Given the description of an element on the screen output the (x, y) to click on. 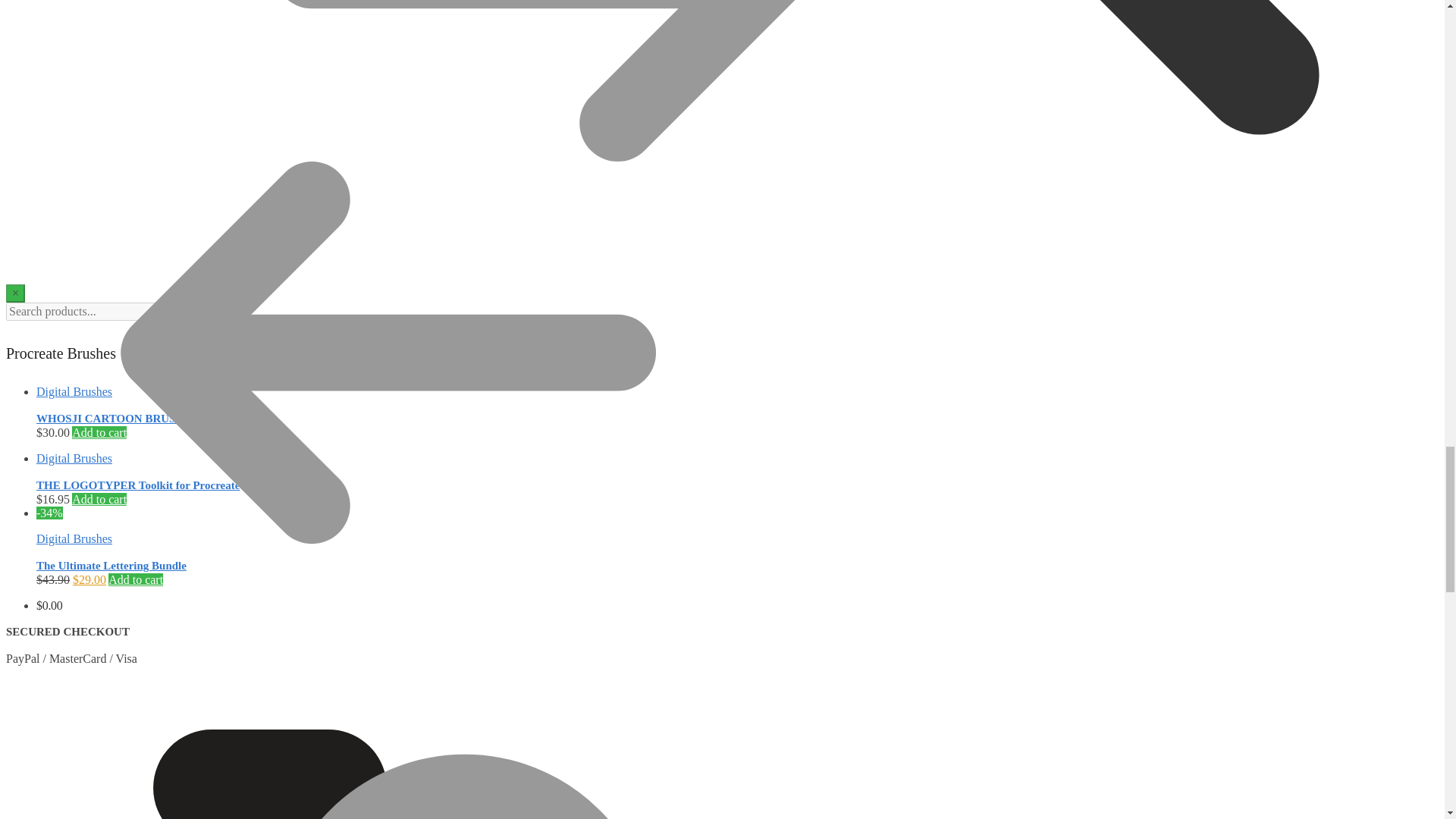
Digital Brushes (74, 538)
WHOSJI CARTOON BRUSH SET (122, 418)
Add to cart (98, 431)
Digital Brushes (74, 391)
Add to cart (98, 499)
Add to cart (135, 579)
Search (183, 311)
The Ultimate Lettering Bundle (111, 565)
Digital Brushes (74, 458)
THE LOGOTYPER Toolkit for Procreate (138, 485)
